Given the description of an element on the screen output the (x, y) to click on. 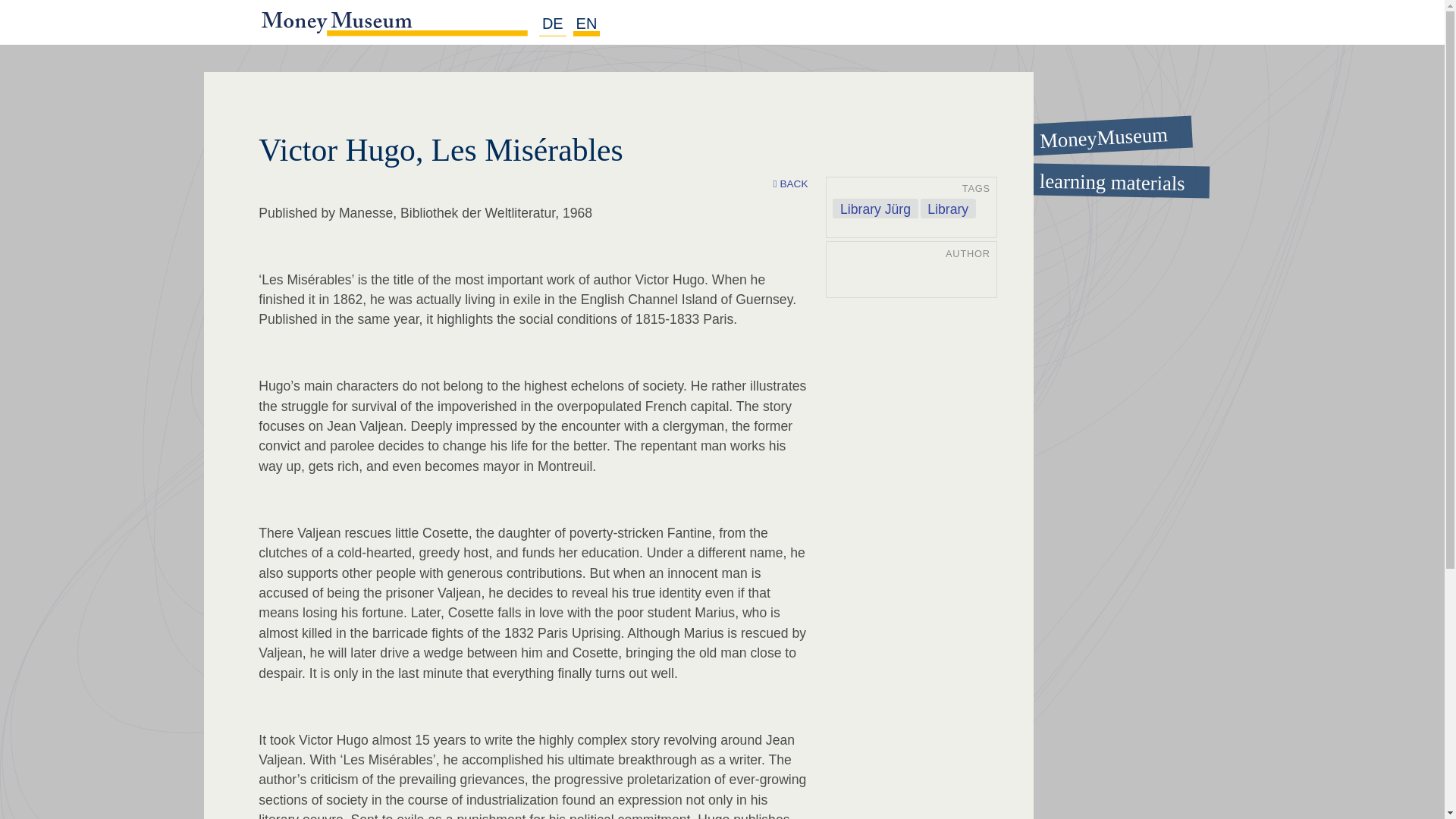
Library (947, 208)
BACK (790, 184)
EN (586, 24)
MoneyMuseum (1096, 130)
DE (552, 24)
learning materials (1097, 178)
